Given the description of an element on the screen output the (x, y) to click on. 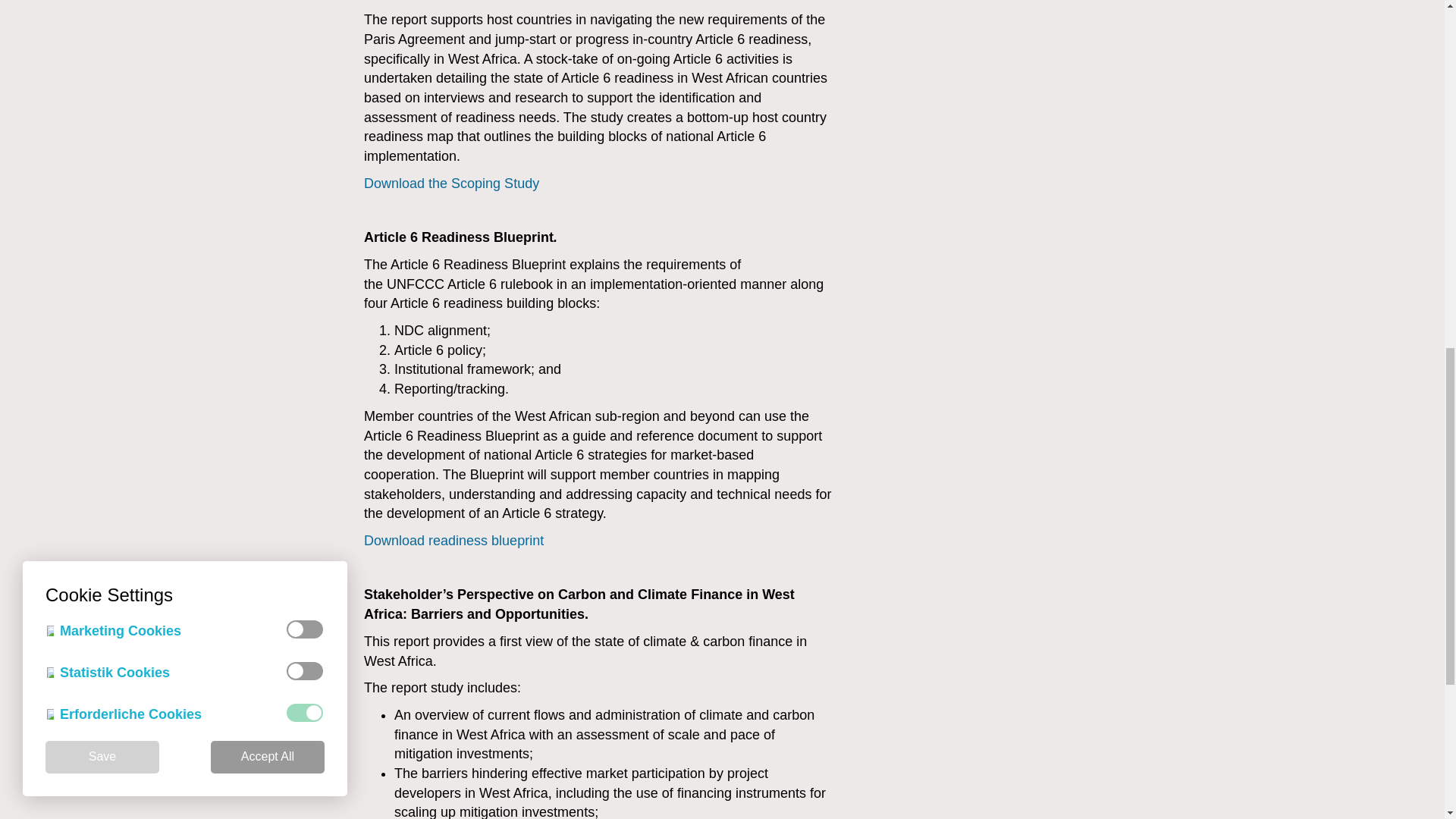
Download the Scoping Study (451, 183)
Download readiness blueprint (453, 540)
